Given the description of an element on the screen output the (x, y) to click on. 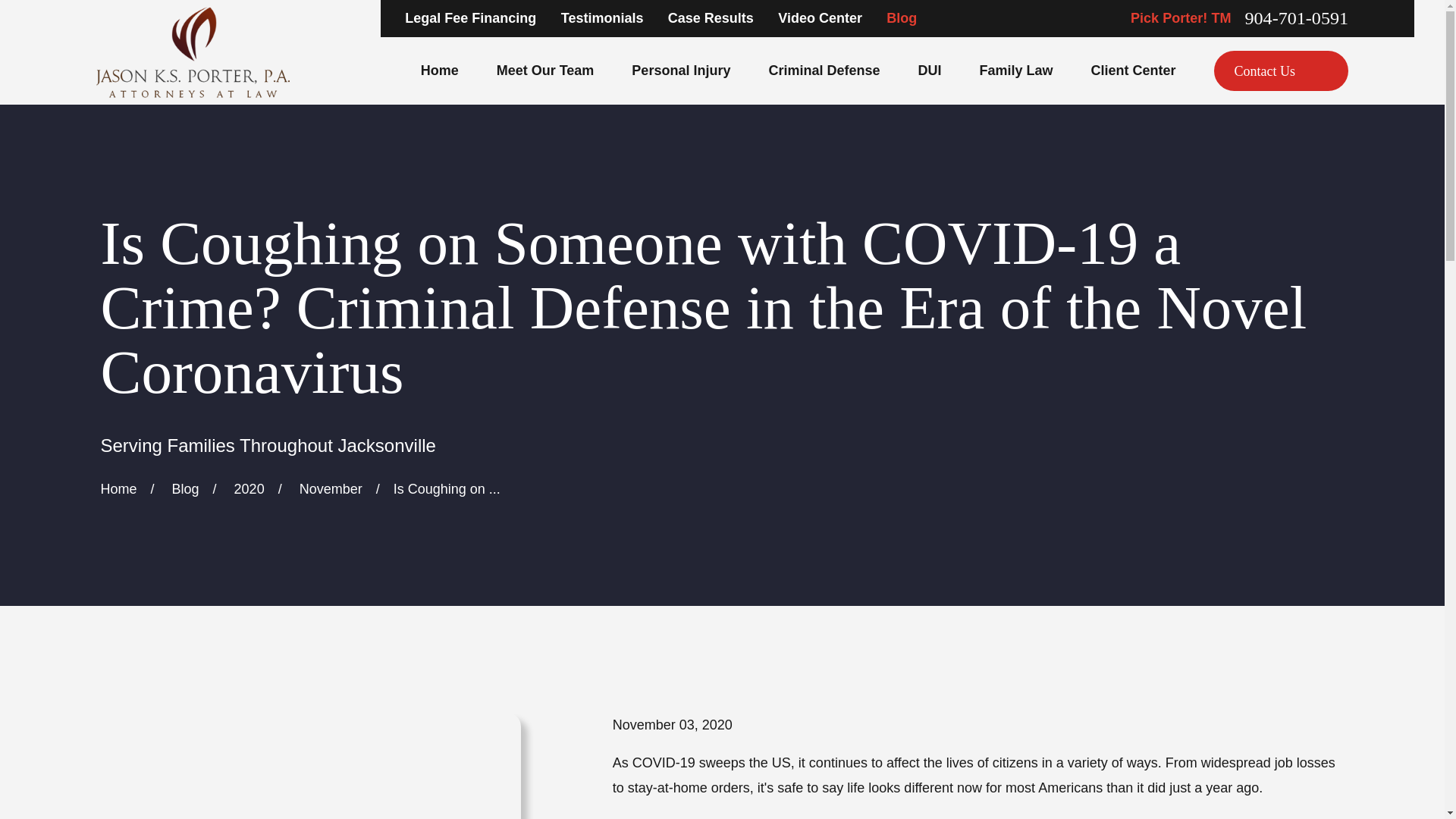
Case Results (711, 17)
Personal Injury (680, 70)
Testimonials (601, 17)
Go Home (118, 488)
904-701-0591 (1296, 18)
Criminal Defense (823, 70)
Blog (901, 17)
Legal Fee Financing (469, 17)
Home (439, 70)
Home (192, 51)
